Given the description of an element on the screen output the (x, y) to click on. 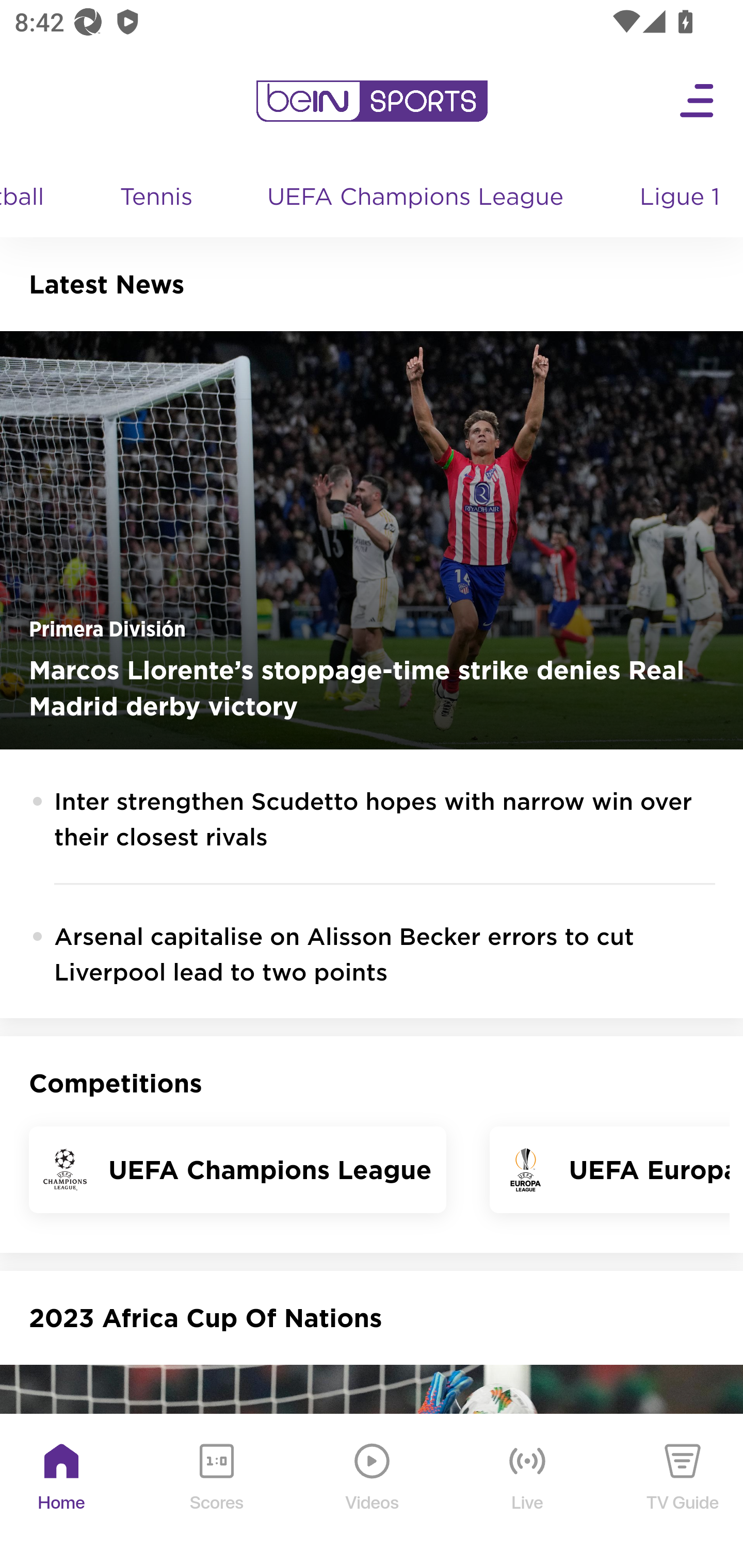
en-my?platform=mobile_android bein logo (371, 101)
Open Menu Icon (697, 101)
Tennis (157, 198)
UEFA Champions League (417, 198)
Ligue 1 (681, 198)
Home Home Icon Home (61, 1491)
Scores Scores Icon Scores (216, 1491)
Videos Videos Icon Videos (372, 1491)
TV Guide TV Guide Icon TV Guide (682, 1491)
